Given the description of an element on the screen output the (x, y) to click on. 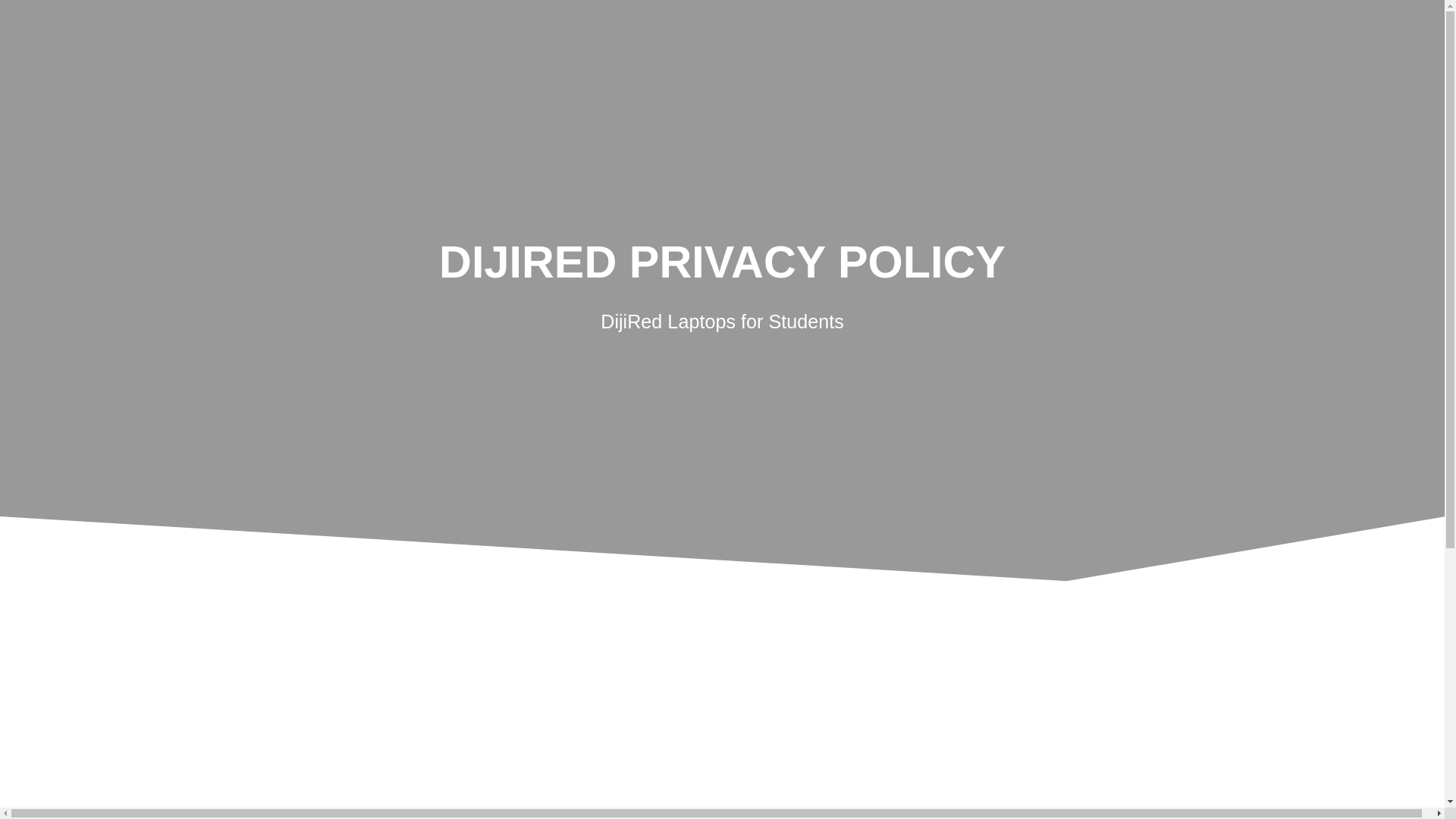
REQUEST DEVICE (828, 158)
CONTACT (1316, 158)
SUPPORTERS (1183, 158)
Terms (688, 779)
DONATE (974, 158)
Privacy (757, 779)
